Given the description of an element on the screen output the (x, y) to click on. 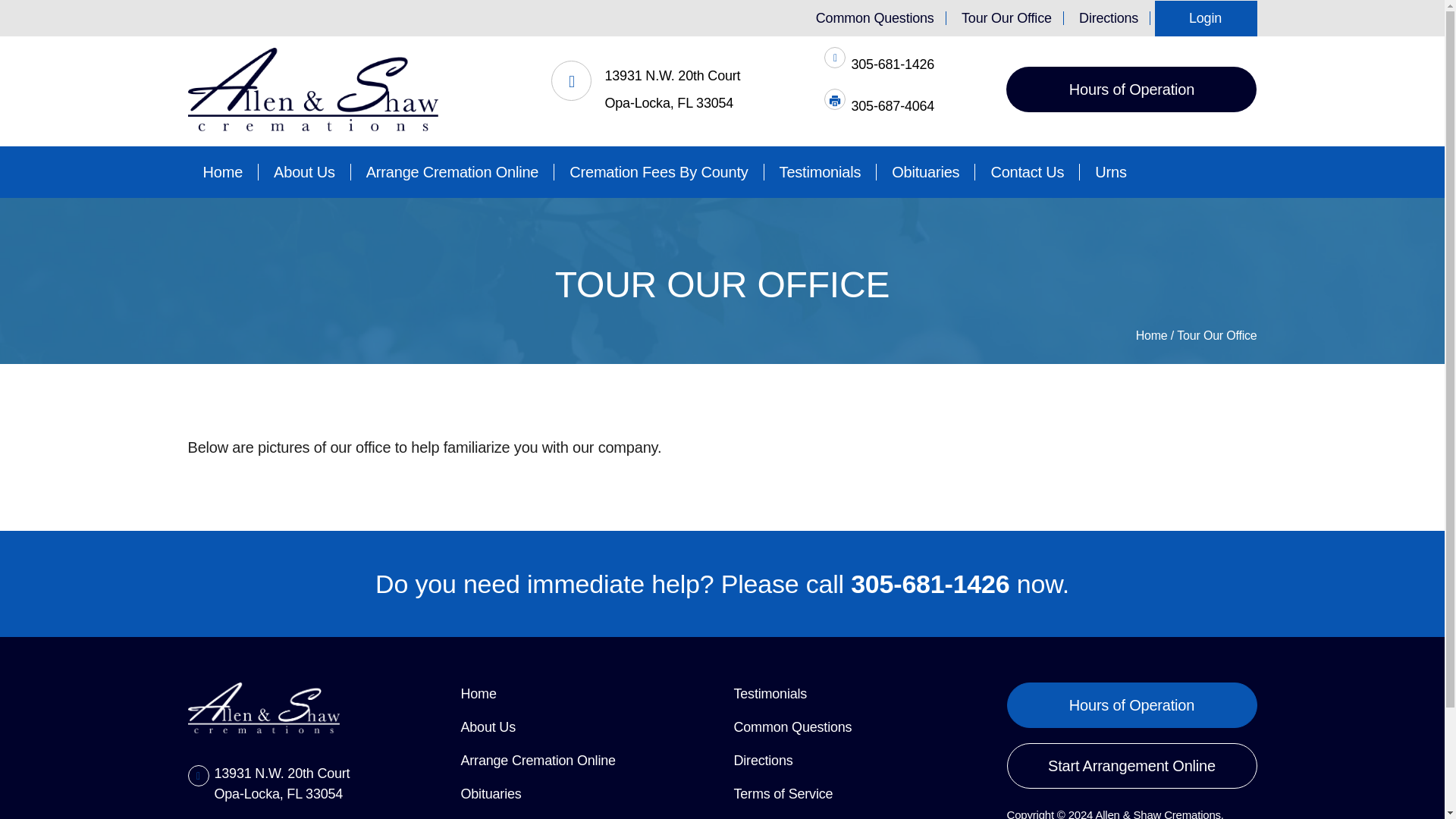
Contact Us (1027, 171)
Home (1152, 335)
305-681-1426 (892, 64)
305-687-4064 (892, 105)
About Us (488, 726)
Cremation Fees By County (658, 171)
Arrange Cremation Online (452, 171)
Urns (1110, 171)
Directions (763, 760)
Common Questions (875, 18)
Arrange Cremation Online (538, 760)
Obituaries (491, 793)
Home (478, 693)
Terms of Service (782, 793)
Obituaries (925, 171)
